Given the description of an element on the screen output the (x, y) to click on. 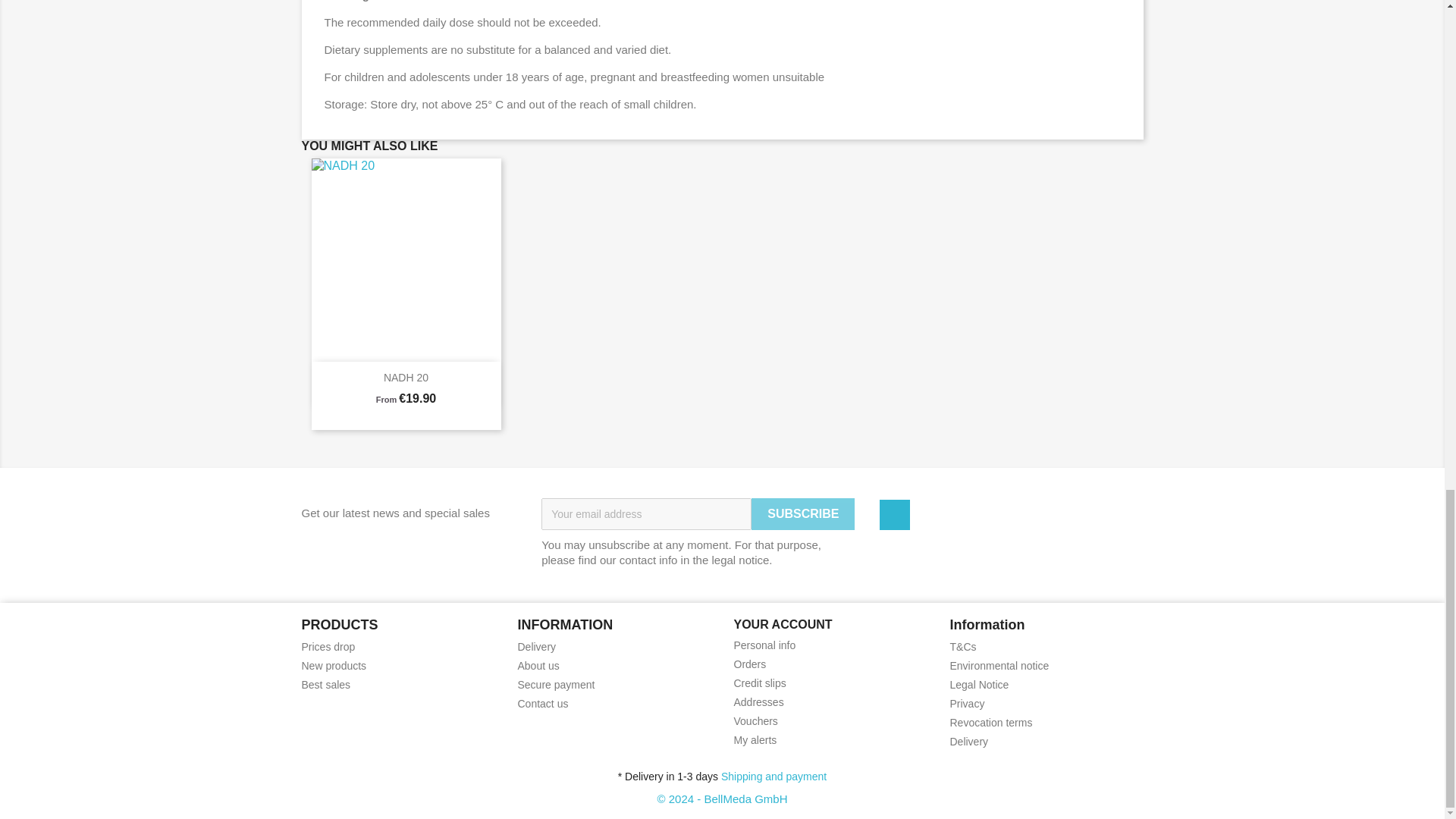
Our new products (333, 665)
Our special products (328, 646)
Orders (750, 664)
Our best sales (325, 684)
Our secure payment method (555, 684)
Our terms and conditions of delivery (536, 646)
Credit slips (759, 683)
Use our form to contact us (541, 703)
Learn more about us (537, 665)
Subscribe (802, 513)
Personal info (764, 645)
